Given the description of an element on the screen output the (x, y) to click on. 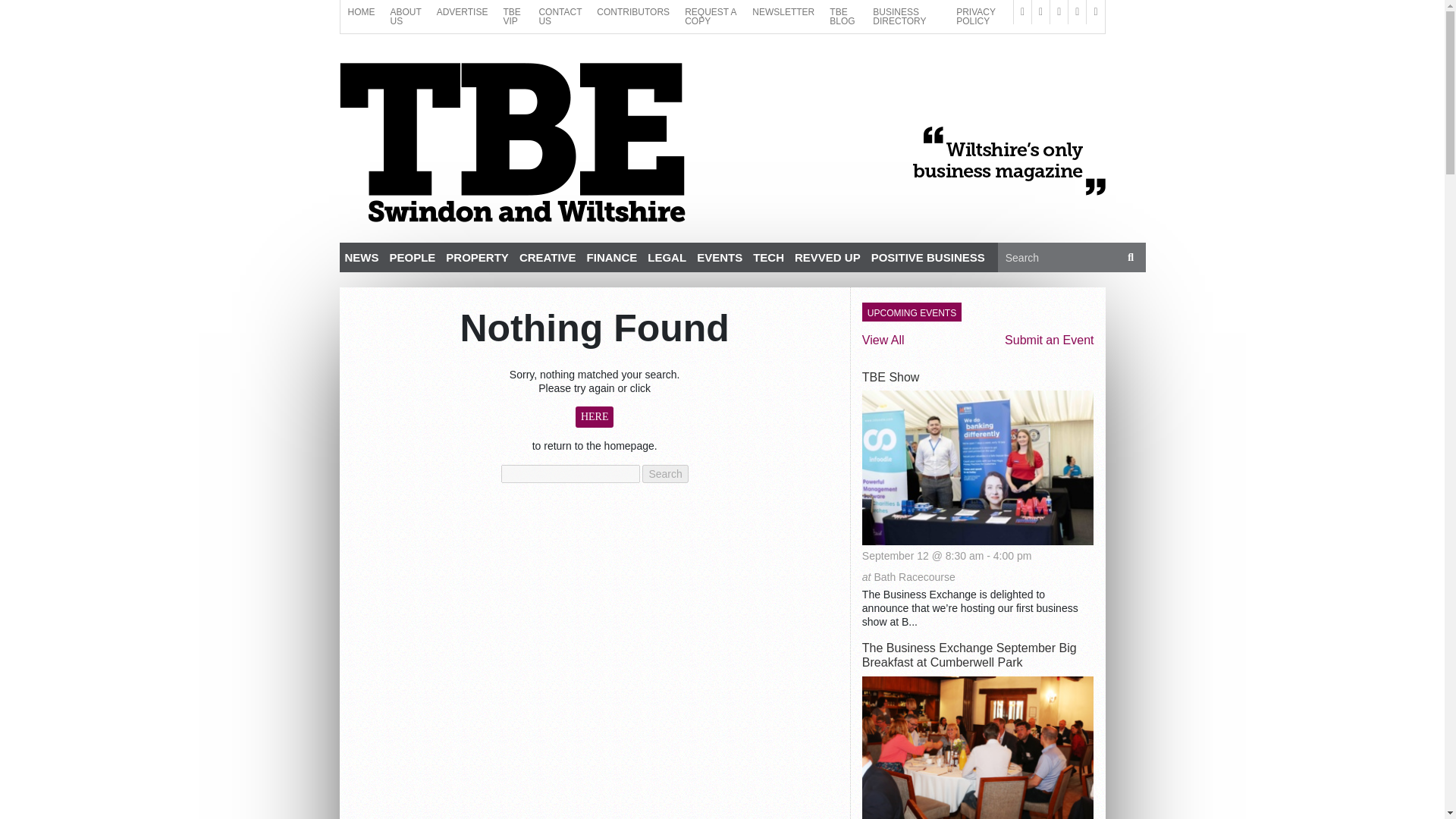
Search (664, 474)
PRIVACY POLICY (981, 16)
ADVERTISE (462, 12)
TBE BLOG (843, 16)
HOME (360, 12)
TBE VIP (513, 16)
CONTRIBUTORS (633, 12)
Search (1130, 256)
ABOUT US (404, 16)
NEWS (361, 256)
BUSINESS DIRECTORY (906, 16)
CONTACT US (560, 16)
REQUEST A COPY (710, 16)
NEWSLETTER (783, 12)
